Given the description of an element on the screen output the (x, y) to click on. 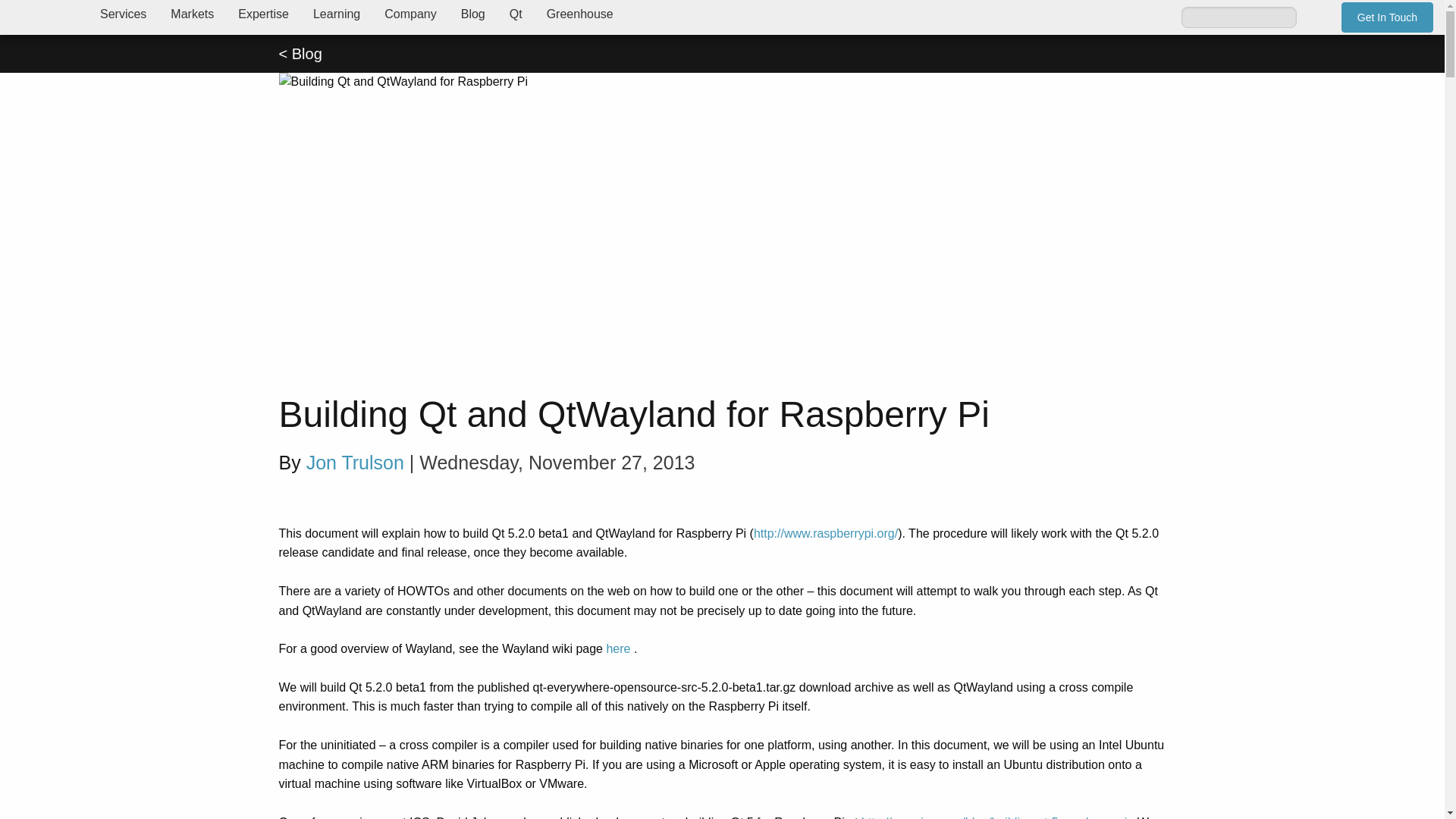
Qt (515, 14)
ICS (44, 17)
Learning (336, 14)
Services (122, 14)
Markets (191, 14)
Greenhouse (580, 14)
Enter the terms you wish to search for. (1238, 16)
Company (410, 14)
Expertise (263, 14)
Search (1315, 16)
Blog (472, 14)
Get In Touch (1386, 17)
Search (1315, 16)
